Given the description of an element on the screen output the (x, y) to click on. 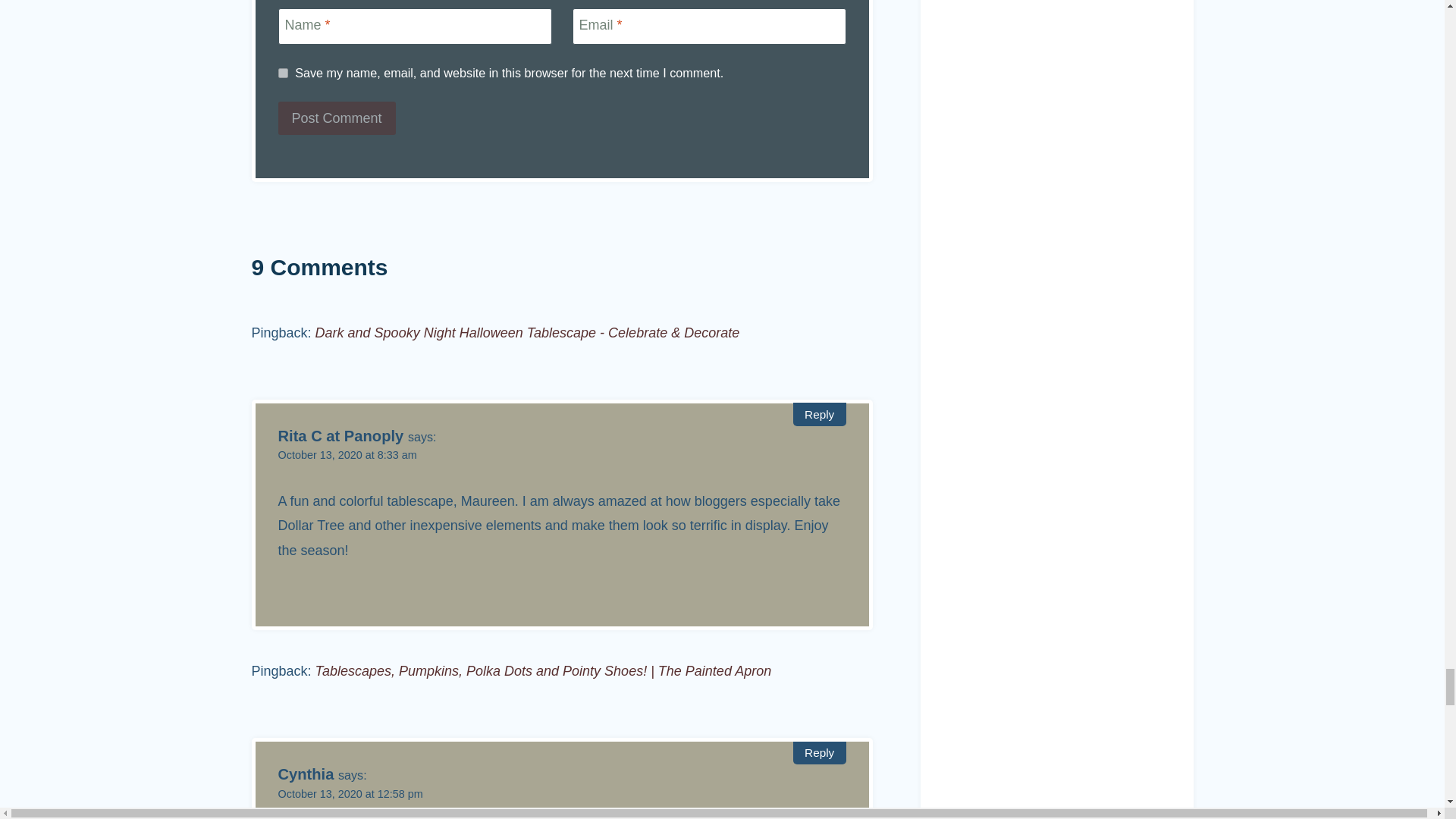
yes (282, 72)
Post Comment (336, 117)
